Given the description of an element on the screen output the (x, y) to click on. 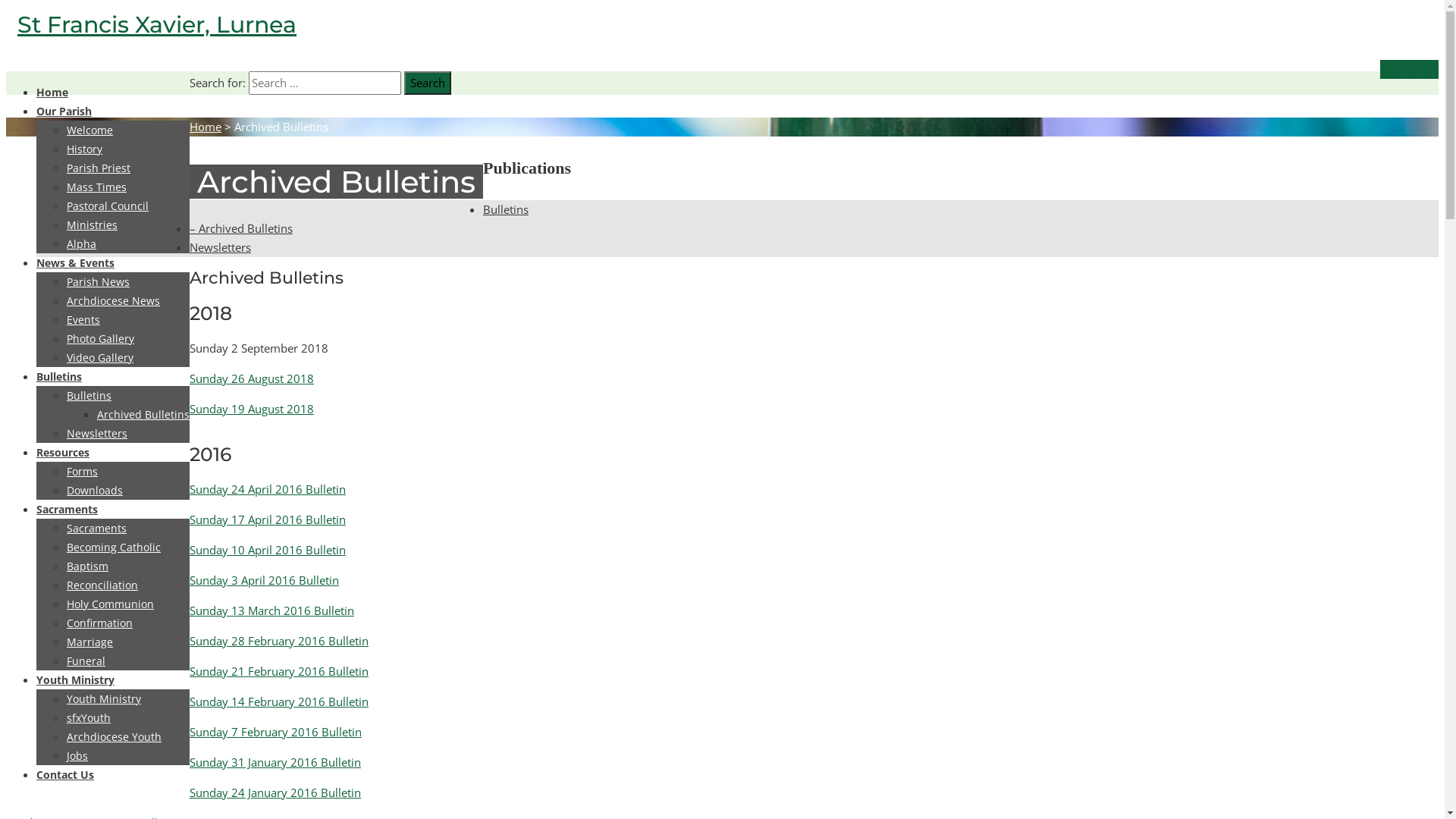
Pastoral Council Element type: text (107, 205)
Newsletters Element type: text (96, 433)
Baptism Element type: text (87, 565)
News & Events Element type: text (75, 262)
Sunday 26 August 2018 Element type: text (251, 377)
Sunday 10 April 2016 Bulletin Element type: text (267, 549)
Holy Communion Element type: text (109, 603)
sfxYouth Element type: text (88, 717)
Our Parish Element type: text (63, 110)
Alpha Element type: text (81, 243)
Becoming Catholic Element type: text (113, 546)
Home Element type: text (52, 91)
Downloads Element type: text (94, 490)
Sunday 13 March 2016 Bulletin Element type: text (271, 610)
History Element type: text (84, 148)
Forms Element type: text (81, 471)
Resources Element type: text (62, 452)
Video Gallery Element type: text (99, 357)
Funeral Element type: text (85, 660)
Sunday 17 April 2016 Bulletin Element type: text (267, 519)
Jobs Element type: text (76, 755)
Archdiocese Youth Element type: text (113, 736)
Sunday 19 August 2018 Element type: text (251, 408)
Sacraments Element type: text (96, 527)
Sunday 21 February 2016 Bulletin Element type: text (278, 670)
Bulletins Element type: text (505, 208)
St Francis Xavier, Lurnea Element type: text (156, 24)
Archdiocese News Element type: text (113, 300)
Bulletins Element type: text (58, 376)
Ministries Element type: text (91, 224)
Sunday 31 January 2016 Bulletin Element type: text (274, 761)
Youth Ministry Element type: text (103, 698)
Sunday 24 April 2016 Bulletin Element type: text (267, 488)
Newsletters Element type: text (220, 246)
Search Element type: text (427, 82)
Welcome Element type: text (89, 129)
Contact Us Element type: text (65, 774)
Parish Priest Element type: text (98, 167)
Reconciliation Element type: text (102, 584)
Events Element type: text (83, 319)
Parish News Element type: text (97, 281)
Sunday 14 February 2016 Bulletin Element type: text (278, 701)
Support Us Element type: text (1409, 68)
Sunday 7 February 2016 Bulletin Element type: text (275, 731)
Photo Gallery Element type: text (100, 338)
Sunday 24 January 2016 Bulletin Element type: text (274, 792)
Bulletins Element type: text (88, 395)
Archived Bulletins Element type: text (143, 414)
Sunday 3 April 2016 Bulletin Element type: text (263, 579)
Confirmation Element type: text (99, 622)
Youth Ministry Element type: text (75, 679)
Marriage Element type: text (89, 641)
Sacraments Element type: text (66, 509)
Mass Times Element type: text (96, 186)
Home Element type: text (205, 126)
Sunday 28 February 2016 Bulletin Element type: text (278, 640)
